Given the description of an element on the screen output the (x, y) to click on. 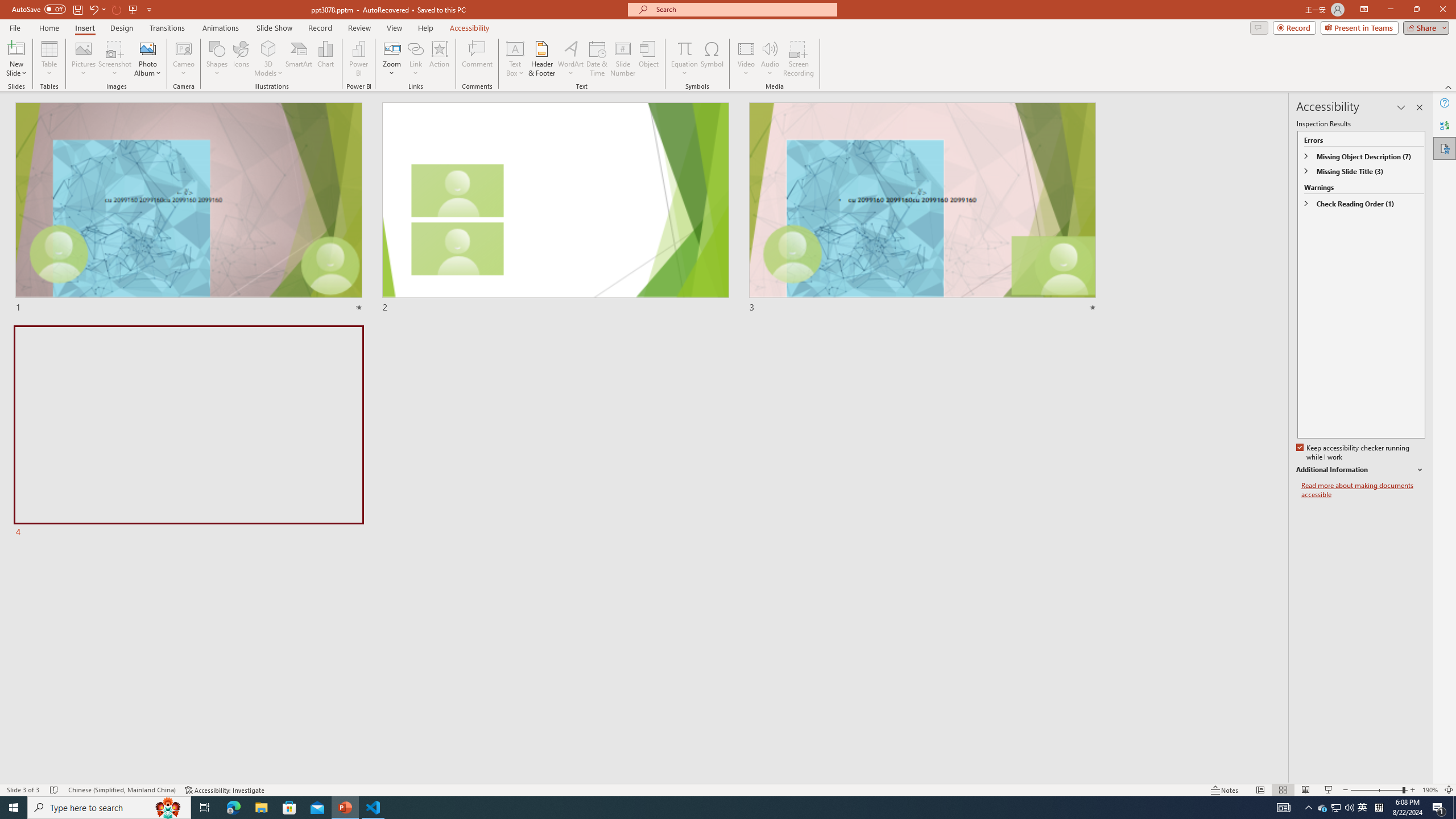
Link (415, 48)
Comment (476, 58)
Screen Recording... (798, 58)
Video (745, 58)
SmartArt... (298, 58)
Symbol... (711, 58)
